Given the description of an element on the screen output the (x, y) to click on. 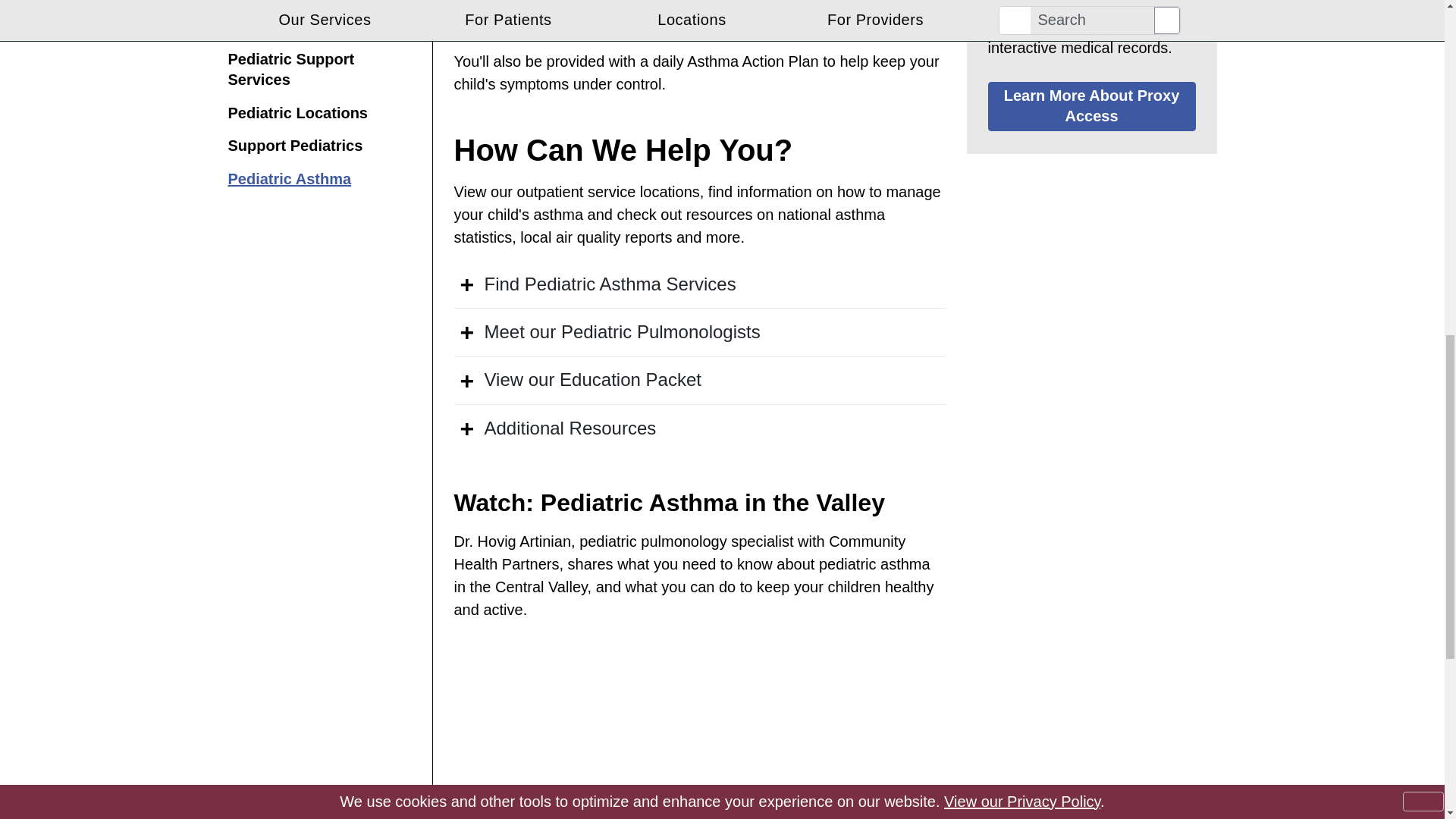
YouTube video player (698, 731)
